Given the description of an element on the screen output the (x, y) to click on. 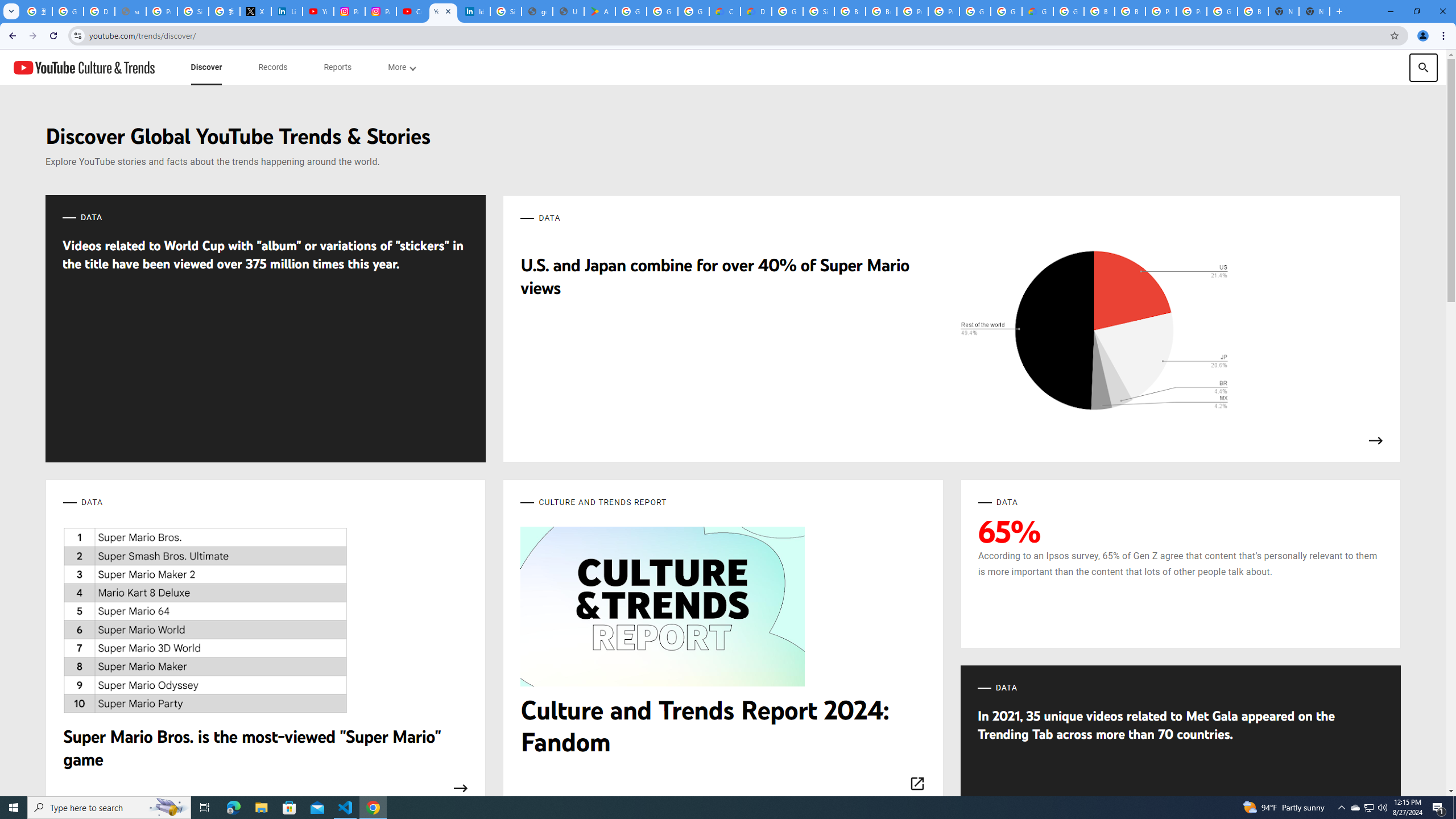
support.google.com - Network error (130, 11)
Google Cloud Platform (1068, 11)
